Given the description of an element on the screen output the (x, y) to click on. 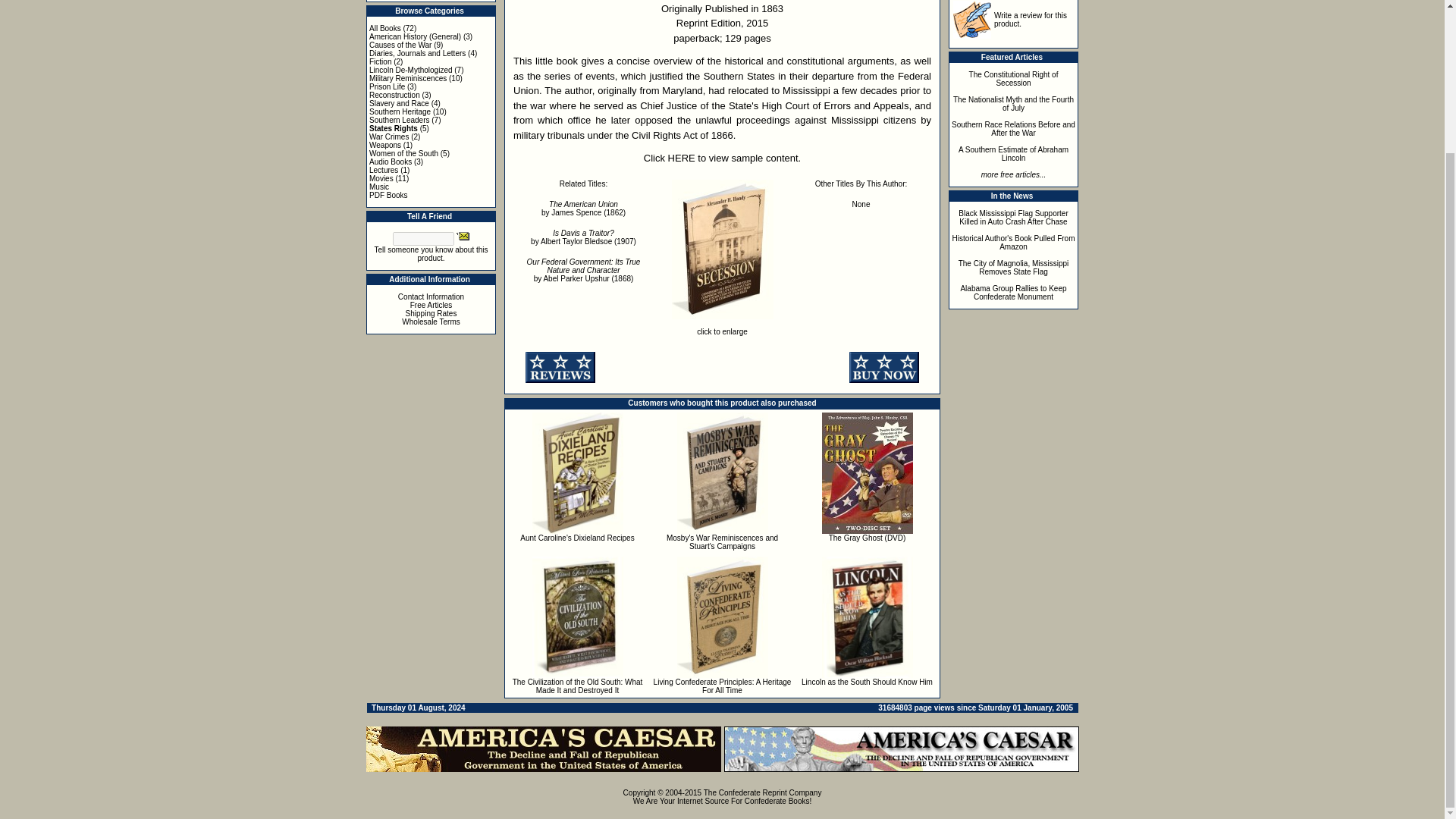
Wholesale Terms (430, 321)
Weapons (385, 144)
 Add to Cart  (883, 367)
Music (378, 186)
All Books (385, 28)
Shipping Rates (431, 313)
Prison Life (386, 86)
 Americas Caesar  (900, 749)
HERE (681, 157)
Southern Leaders (399, 120)
